Given the description of an element on the screen output the (x, y) to click on. 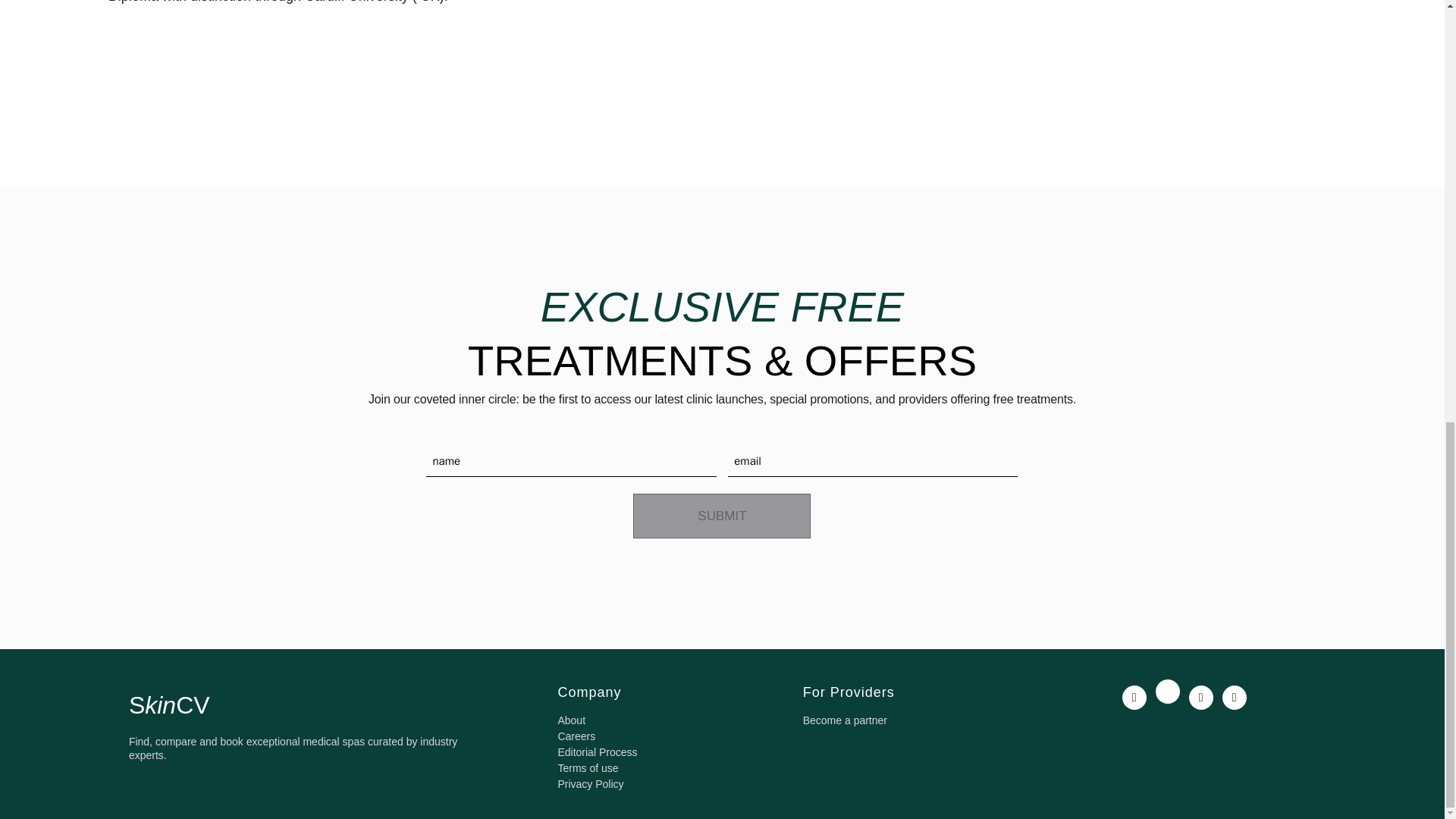
SUBMIT (721, 515)
SUBMIT (721, 515)
Careers (576, 736)
Become a partner (844, 720)
Editorial Process (597, 752)
About (571, 720)
